Given the description of an element on the screen output the (x, y) to click on. 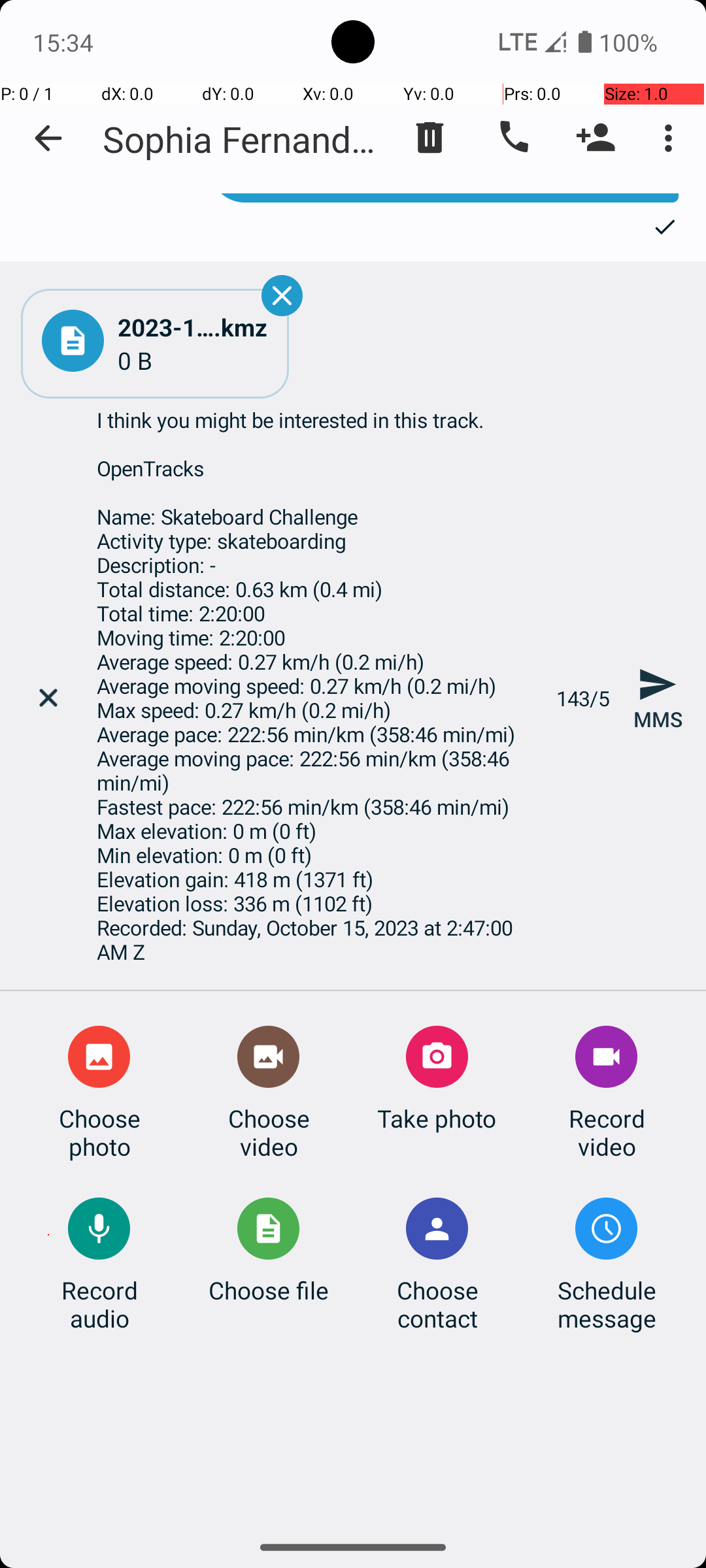
Sophia Fernandez Element type: android.widget.TextView (241, 138)
I think you might be interested in this track.

OpenTracks

Name: Skateboard Challenge
Activity type: skateboarding
Description: -
Total distance: 0.63 km (0.4 mi)
Total time: 2:20:00
Moving time: 2:20:00
Average speed: 0.27 km/h (0.2 mi/h)
Average moving speed: 0.27 km/h (0.2 mi/h)
Max speed: 0.27 km/h (0.2 mi/h)
Average pace: 222:56 min/km (358:46 min/mi)
Average moving pace: 222:56 min/km (358:46 min/mi)
Fastest pace: 222:56 min/km (358:46 min/mi)
Max elevation: 0 m (0 ft)
Min elevation: 0 m (0 ft)
Elevation gain: 418 m (1371 ft)
Elevation loss: 336 m (1102 ft)
Recorded: Sunday, October 15, 2023 at 2:47:00 AM Z
 Element type: android.widget.EditText (318, 697)
143/5 Element type: android.widget.TextView (582, 698)
MMS Element type: android.widget.Button (657, 697)
Looking forward to our next book club meeting! Element type: android.widget.TextView (443, 197)
2023-10-15_02_47_Skateboard Challenge.kmz Element type: android.widget.TextView (192, 326)
